Given the description of an element on the screen output the (x, y) to click on. 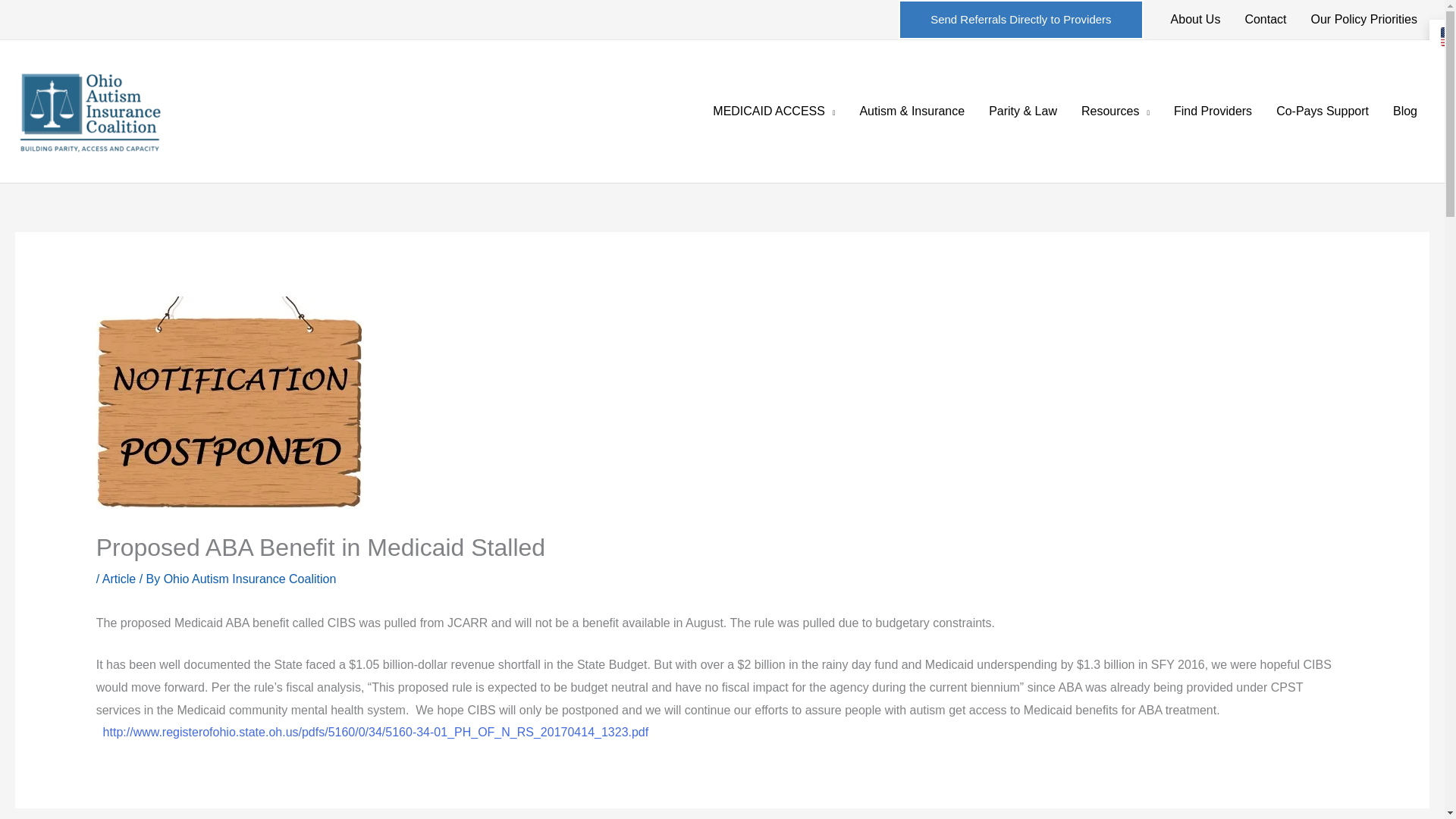
Co-Pays Support (1321, 111)
About Us (1195, 19)
Send Referrals Directly to Providers (1020, 19)
Contact (1264, 19)
Resources (1114, 111)
Find Providers (1212, 111)
View all posts by Ohio Autism Insurance Coalition (249, 578)
Blog (1404, 111)
MEDICAID ACCESS (773, 111)
Our Policy Priorities (1363, 19)
